Given the description of an element on the screen output the (x, y) to click on. 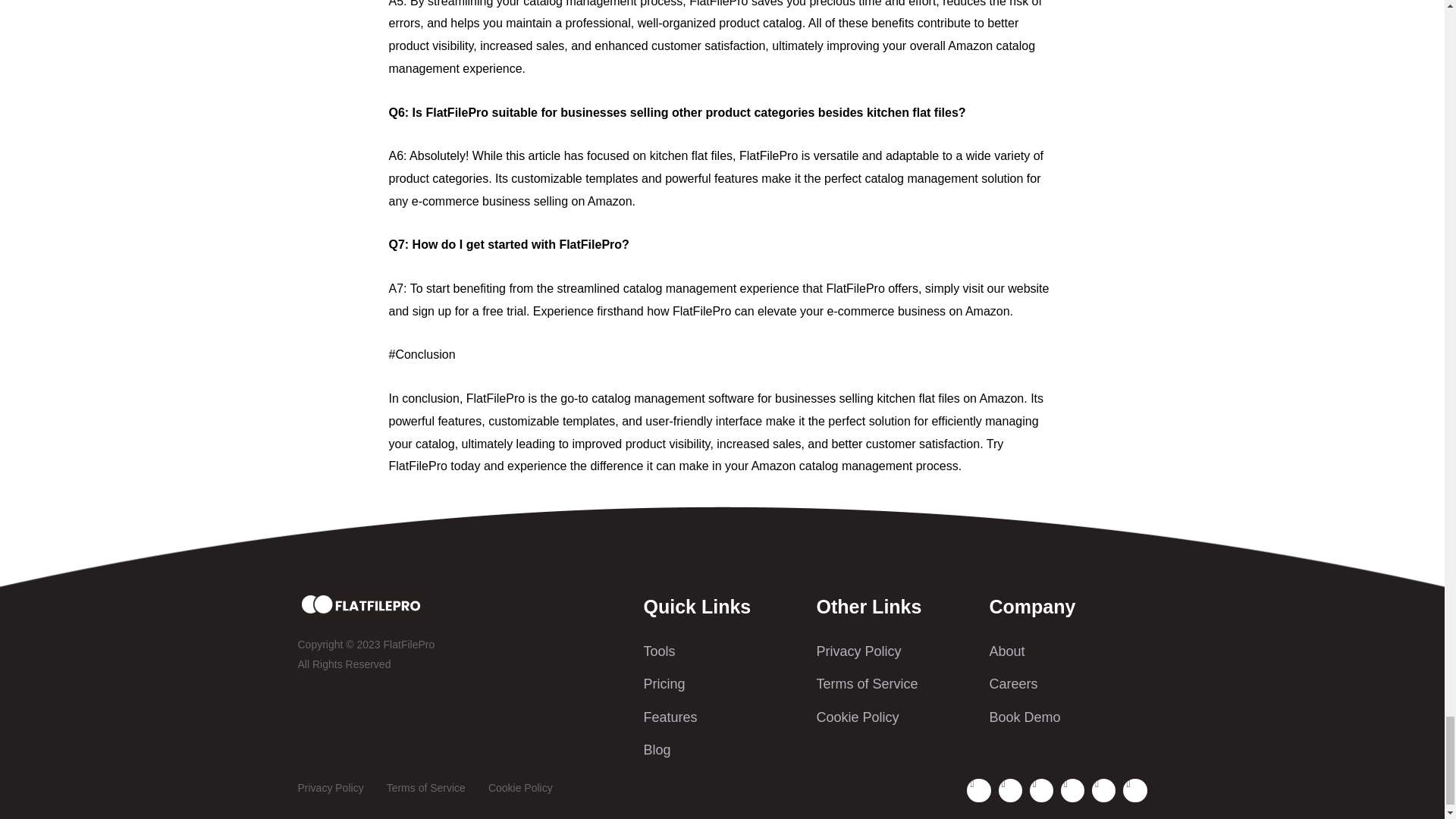
Youtube (1040, 790)
Envelope (1010, 790)
Facebook-f (978, 790)
Privacy Policy (894, 651)
Tools (721, 651)
Linkedin-in (1072, 790)
Features (721, 717)
Privacy Policy (329, 788)
Blog (721, 749)
Terms of Service (426, 788)
Instagram (1134, 790)
Cookie Policy (520, 788)
Terms of Service (894, 683)
Twitter (1103, 790)
Pricing (721, 683)
